Given the description of an element on the screen output the (x, y) to click on. 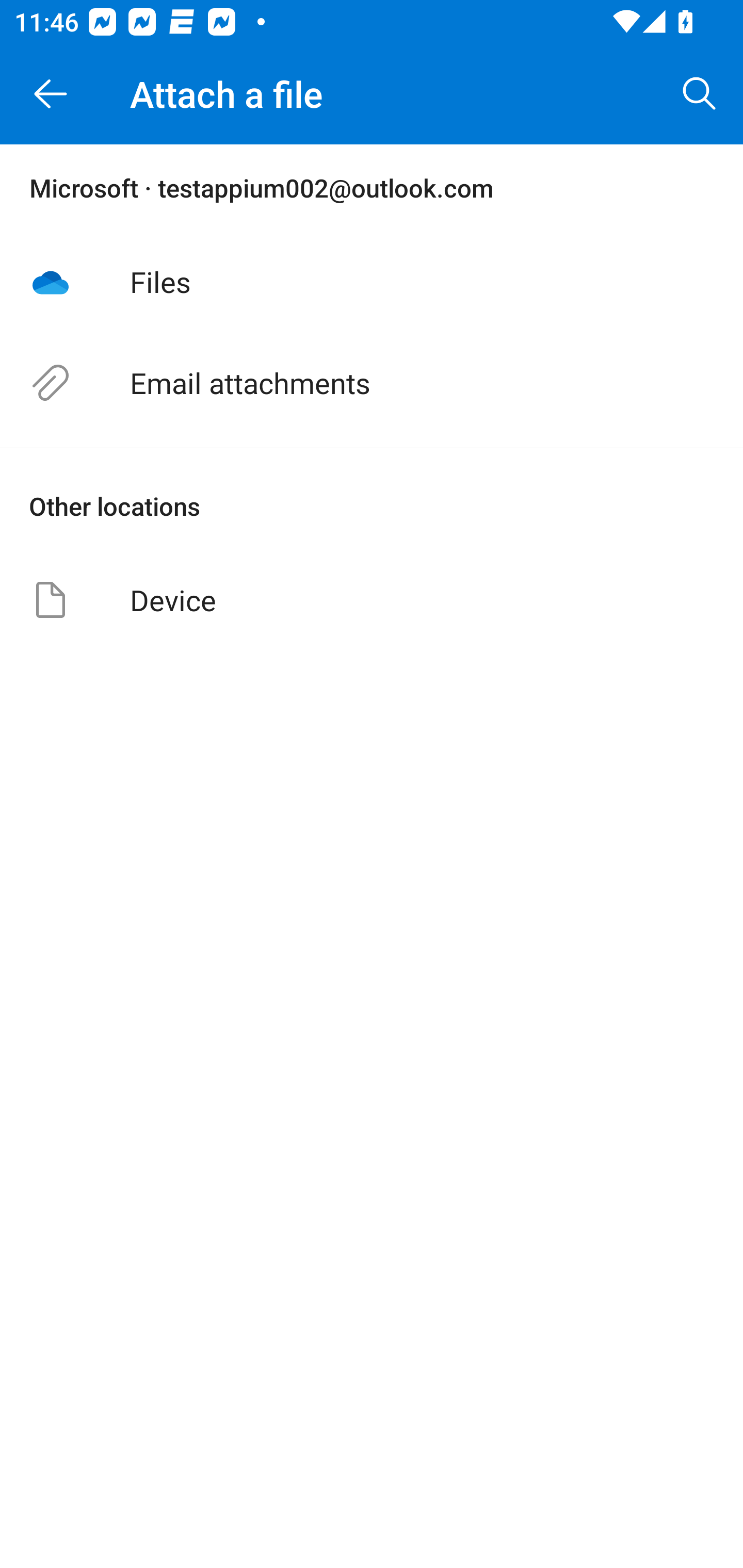
Navigate up (50, 93)
Search button (699, 93)
Files (371, 281)
Email attachments (371, 382)
Device (371, 599)
